Given the description of an element on the screen output the (x, y) to click on. 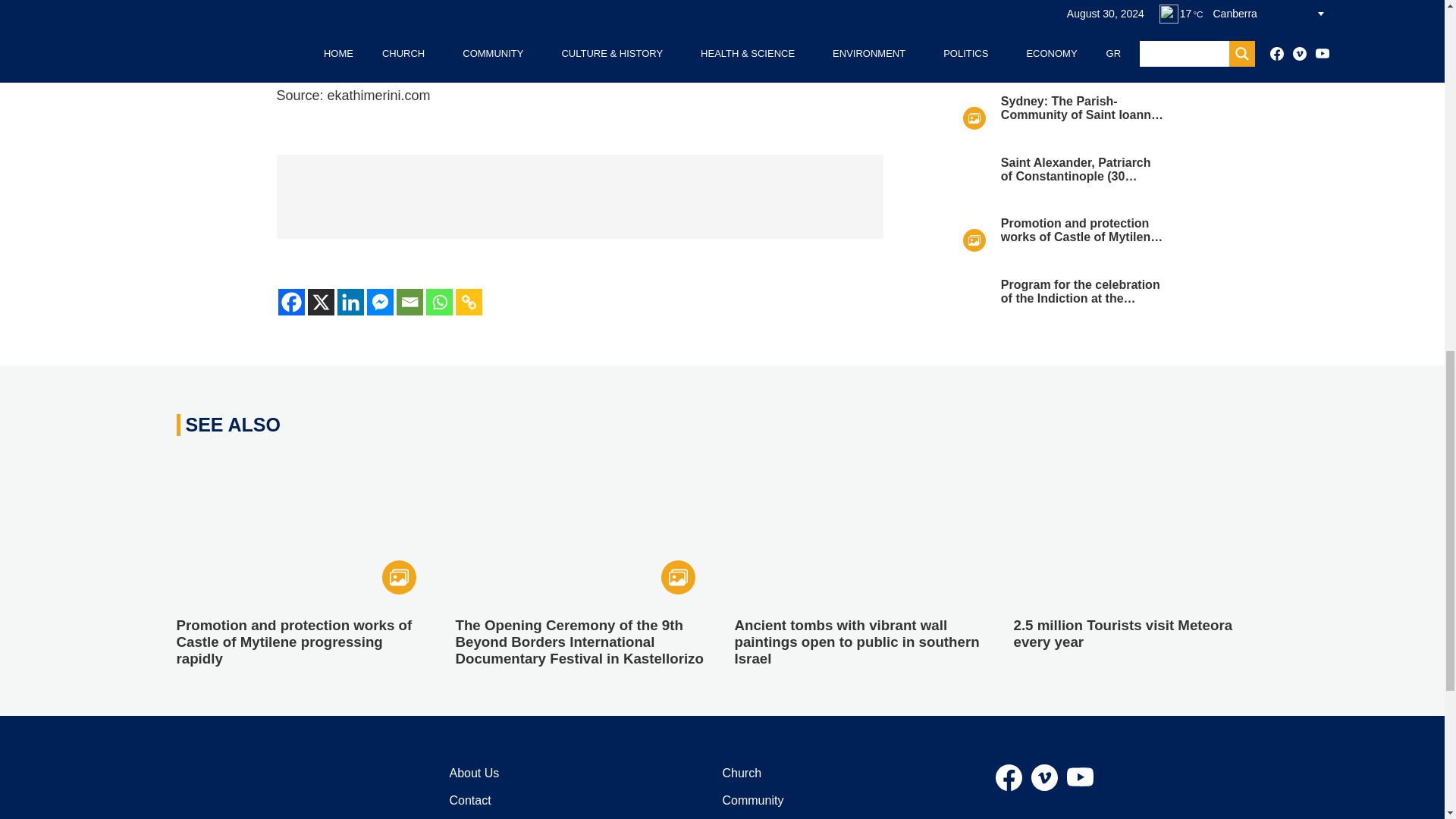
Email (409, 302)
X (320, 302)
Copy Link (467, 302)
Whatsapp (439, 302)
Facebook (291, 302)
Linkedin (349, 302)
